Given the description of an element on the screen output the (x, y) to click on. 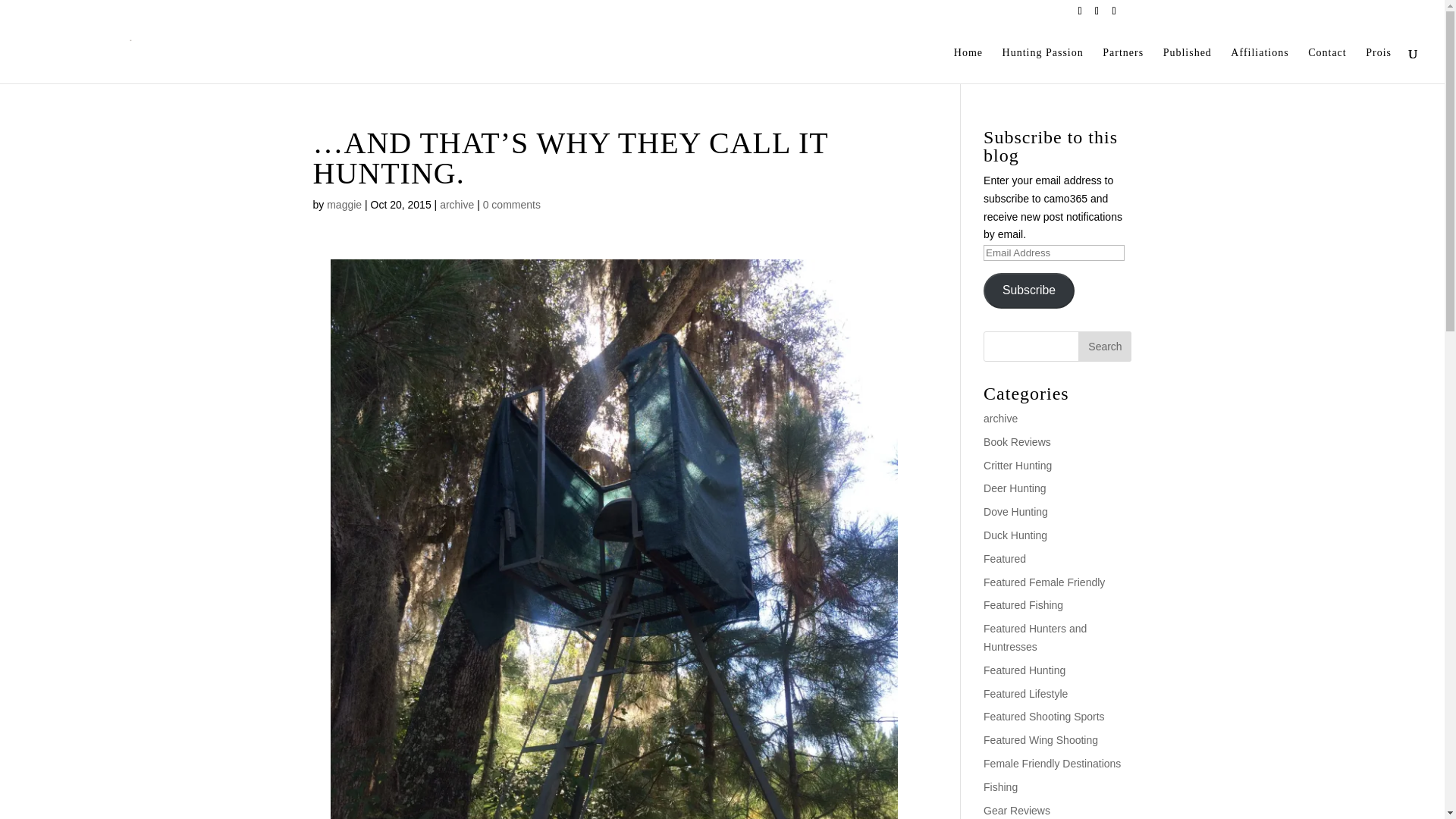
Featured Hunters and Huntresses (1035, 637)
Featured Hunting (1024, 670)
0 comments (511, 204)
Duck Hunting (1015, 535)
Featured (1005, 558)
Partners (1122, 65)
archive (1000, 418)
Subscribe (1029, 290)
Book Reviews (1017, 441)
Featured Fishing (1023, 604)
Fishing (1000, 787)
archive (456, 204)
Deer Hunting (1015, 488)
Female Friendly Destinations (1052, 763)
maggie (343, 204)
